Given the description of an element on the screen output the (x, y) to click on. 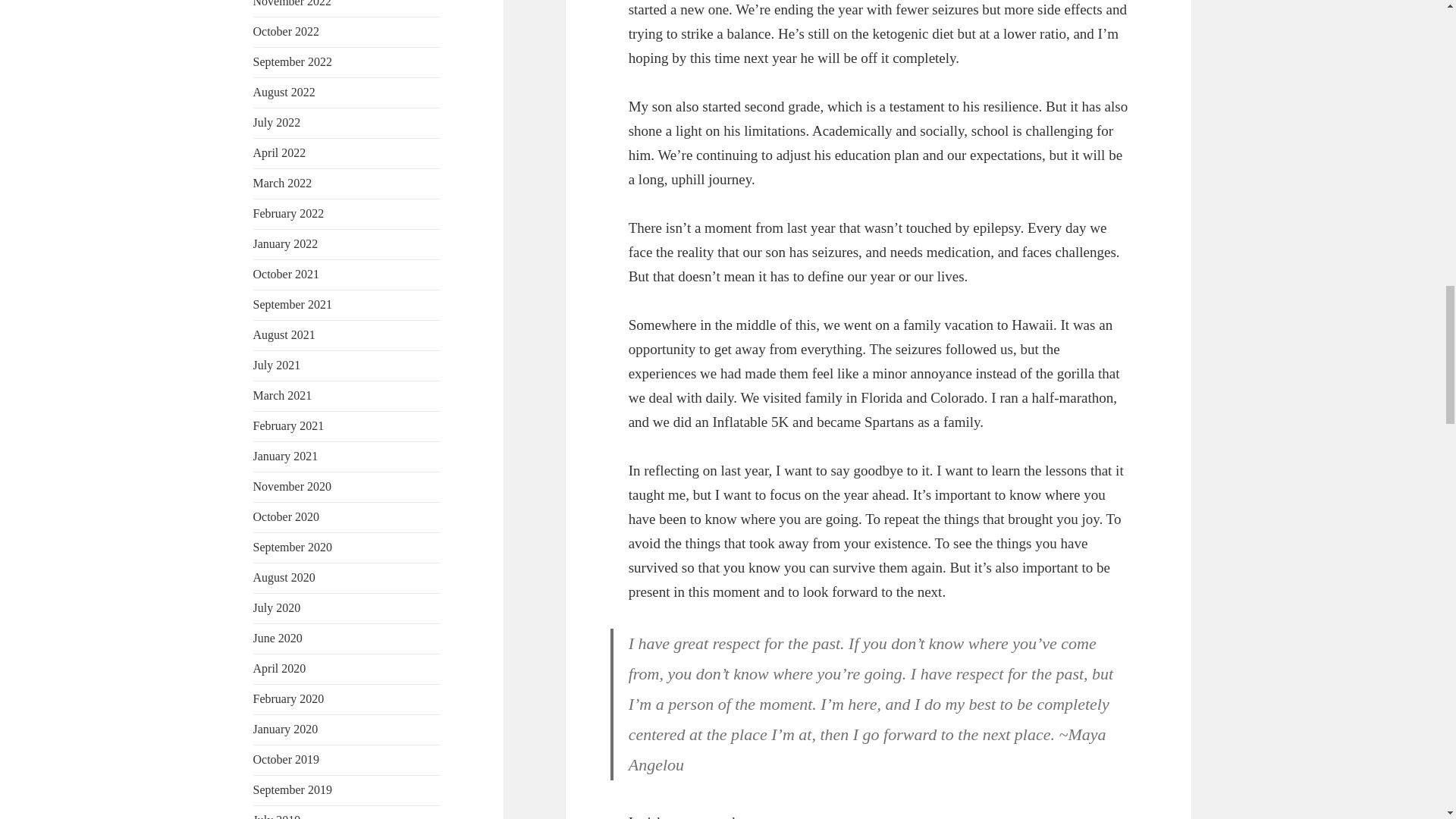
September 2022 (292, 61)
March 2022 (283, 182)
February 2022 (288, 213)
July 2022 (277, 122)
November 2022 (292, 3)
August 2022 (284, 91)
April 2022 (279, 152)
October 2022 (286, 31)
